Given the description of an element on the screen output the (x, y) to click on. 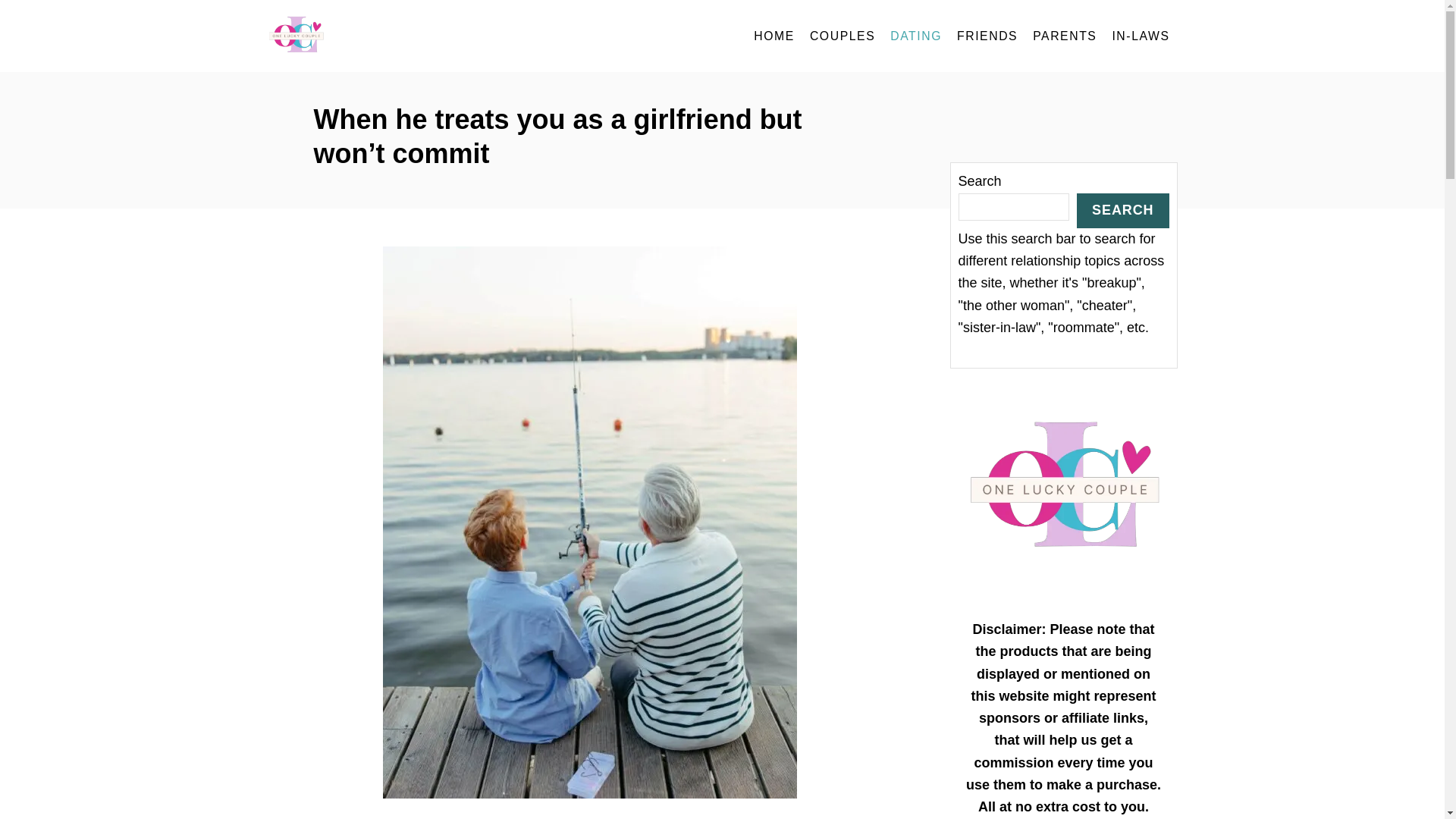
PARENTS (1064, 36)
DATING (915, 36)
COUPLES (842, 36)
SEARCH (1123, 209)
HOME (773, 36)
OLC (403, 36)
FRIENDS (987, 36)
IN-LAWS (1139, 36)
